Given the description of an element on the screen output the (x, y) to click on. 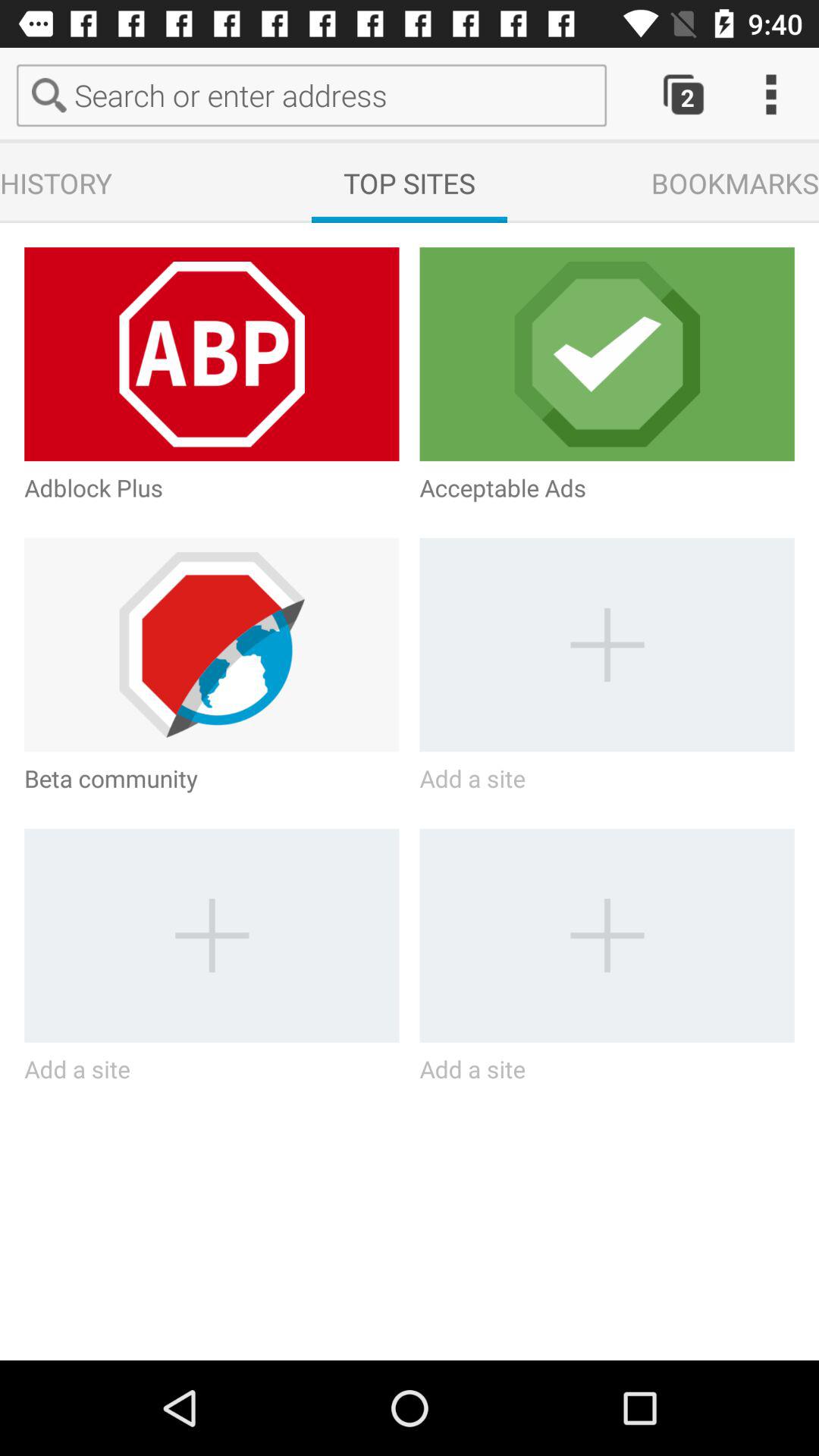
select the text bookmarks (735, 183)
select the options icon on the top right corner (771, 95)
click on the add a site which is in second row second column (607, 645)
click on search icon (52, 95)
